Given the description of an element on the screen output the (x, y) to click on. 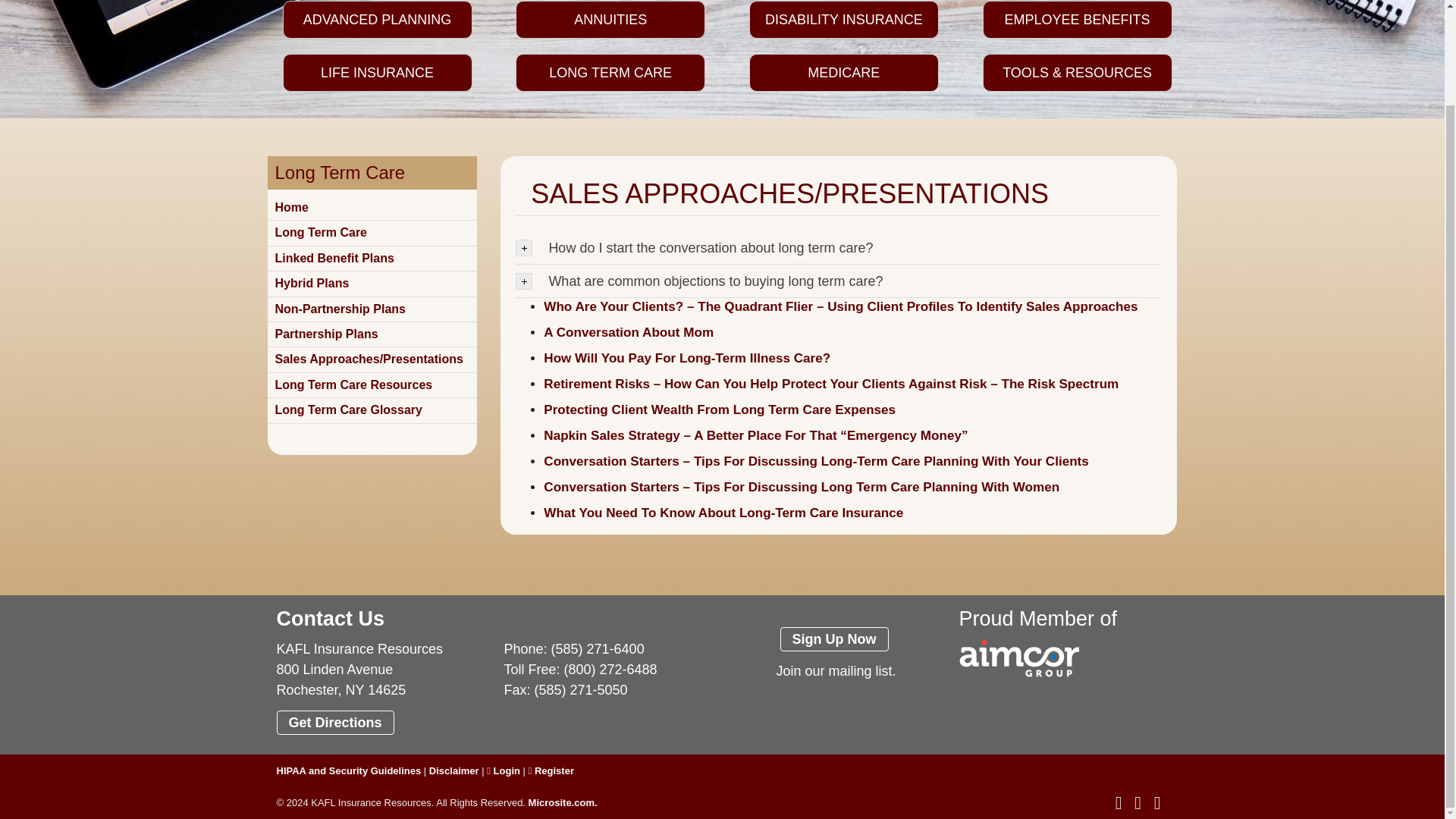
Member Login (502, 770)
Long Term Care Glossary (348, 409)
DISABILITY INSURANCE (844, 24)
Partnership Plans (326, 333)
EMPLOYEE BENEFITS (1077, 23)
How Will You Pay For Long-Term Illness Care? (686, 358)
ANNUITIES (609, 25)
Register (550, 770)
LIFE INSURANCE (376, 76)
MEDICARE (844, 75)
